Given the description of an element on the screen output the (x, y) to click on. 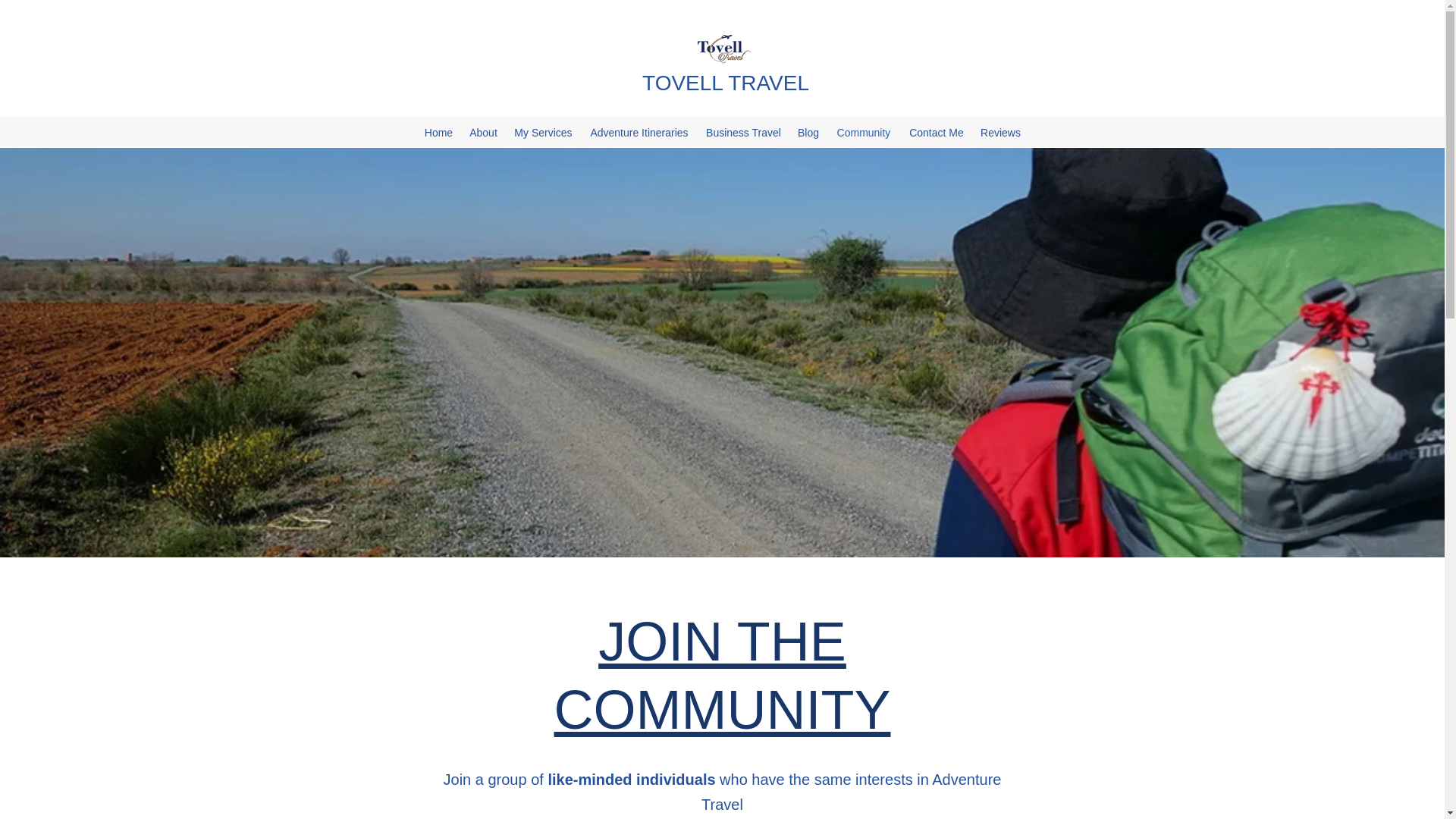
My Services (542, 132)
Home (438, 132)
About (483, 132)
Blog (808, 132)
Adventure Itineraries (638, 132)
Reviews (999, 132)
Community (863, 132)
JOIN THE COMMUNITY (722, 675)
Business Travel (743, 132)
Contact Me (935, 132)
